Given the description of an element on the screen output the (x, y) to click on. 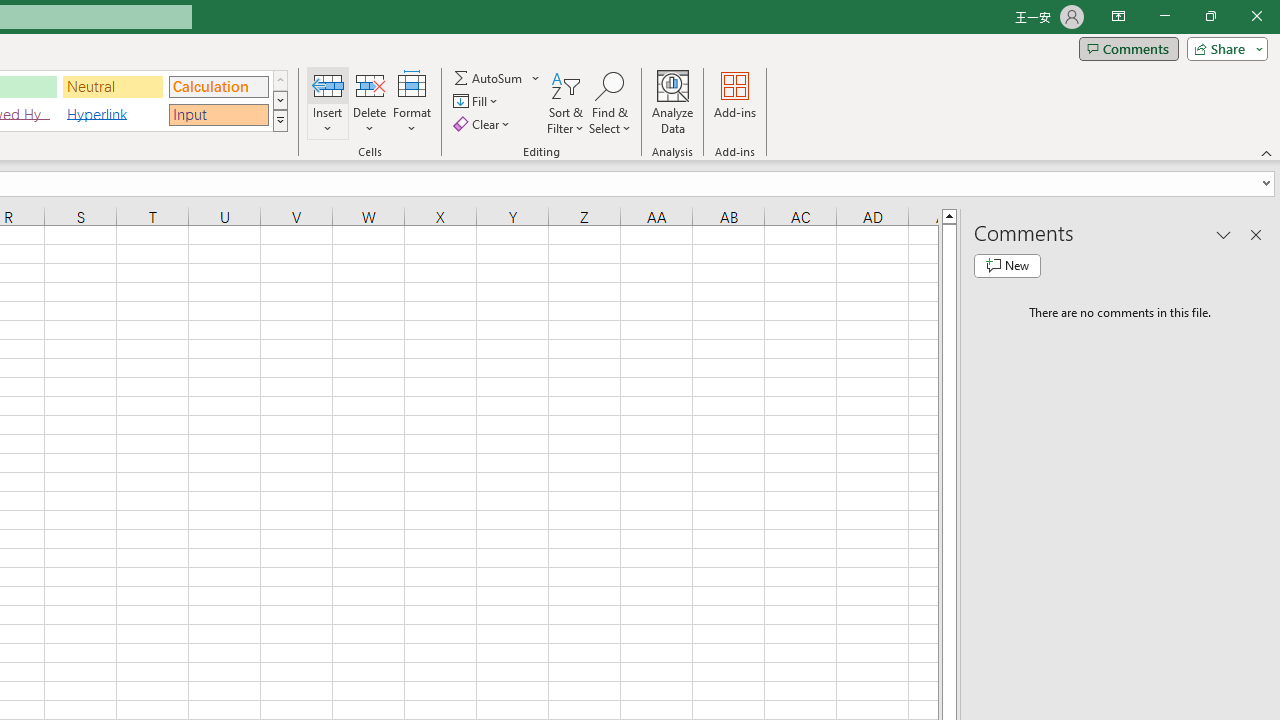
Minimize (1164, 16)
Task Pane Options (1224, 234)
Share (1223, 48)
Delete Cells... (369, 84)
